Given the description of an element on the screen output the (x, y) to click on. 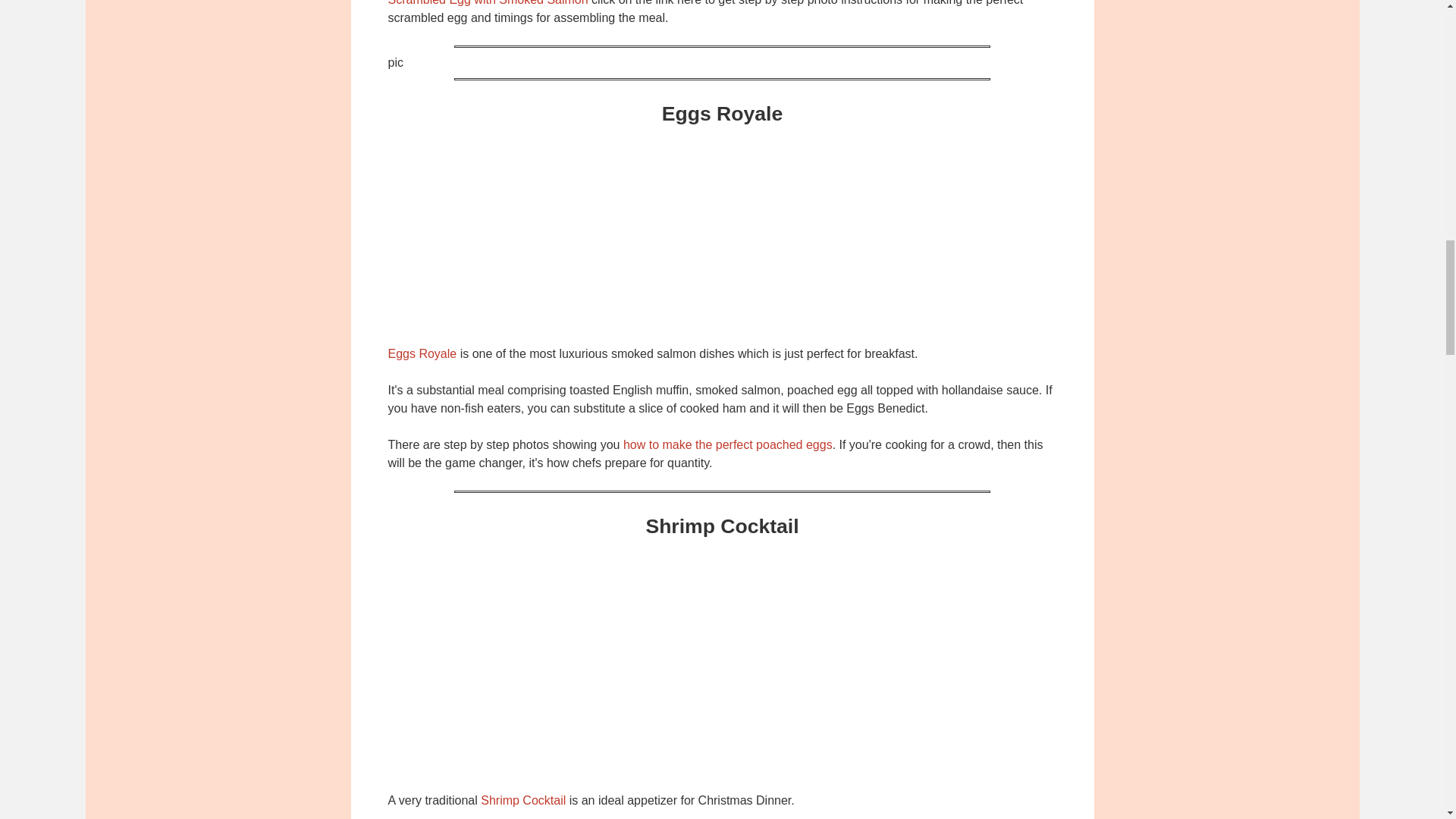
shrimp cocktail (722, 675)
eggs royale (721, 232)
